Given the description of an element on the screen output the (x, y) to click on. 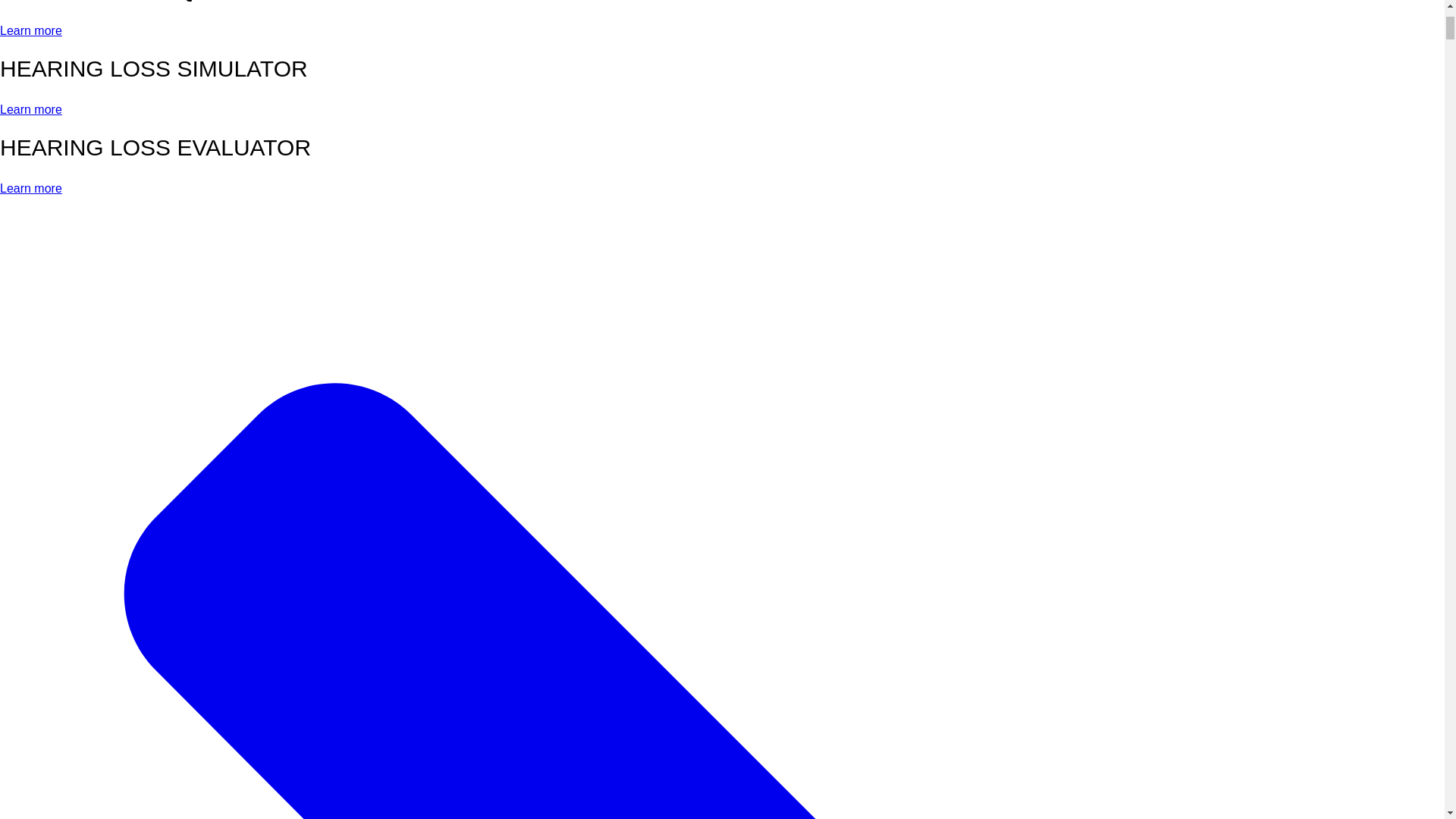
Learn more (31, 187)
Learn more (31, 30)
Learn more (31, 109)
